Given the description of an element on the screen output the (x, y) to click on. 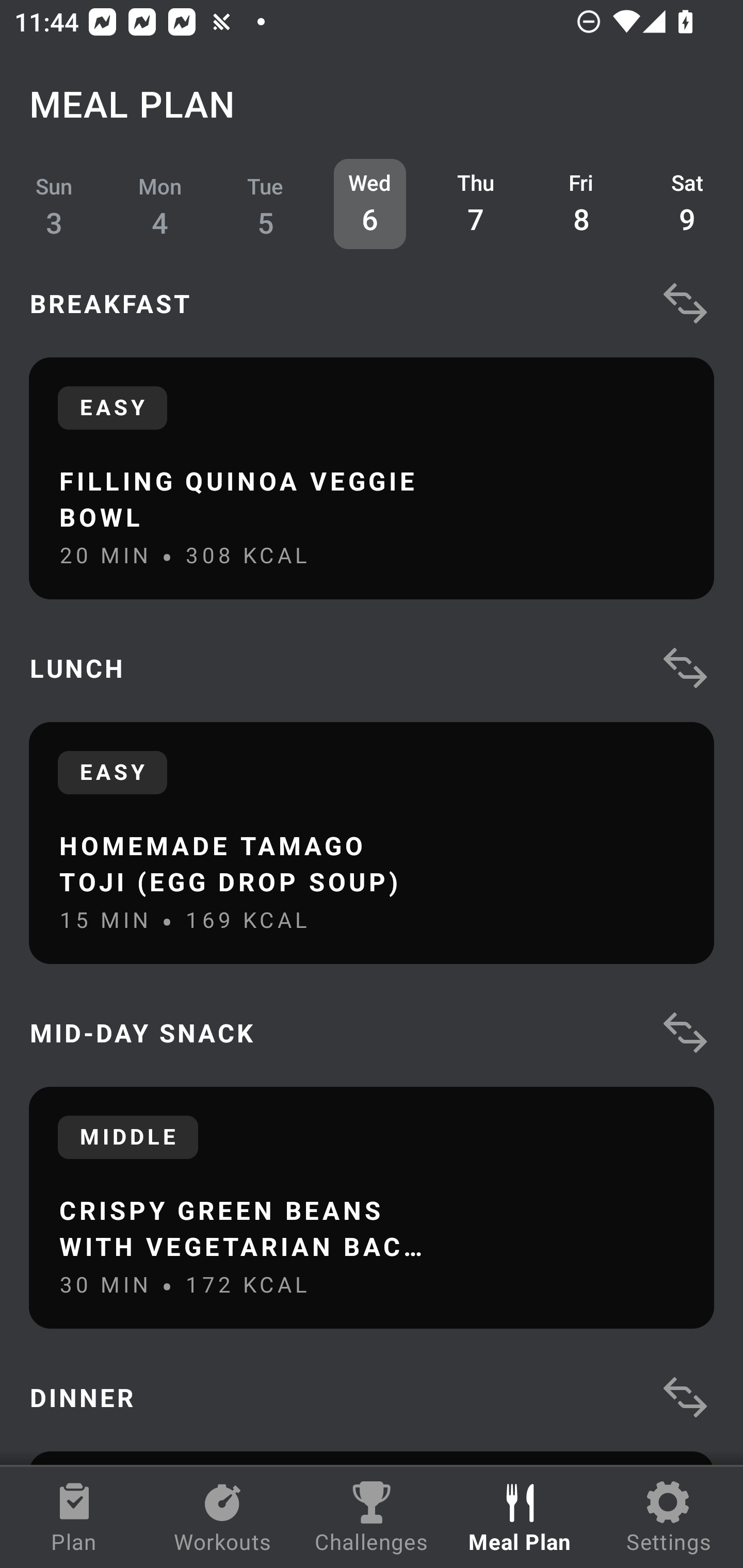
Wed 6 (369, 203)
Thu 7 (475, 203)
Fri 8 (581, 203)
Sat 9 (687, 203)
EASY FILLING QUINOA VEGGIE BOWL 20 MIN • 308 KCAL (371, 477)
 Plan  (74, 1517)
 Workouts  (222, 1517)
 Challenges  (371, 1517)
 Settings  (668, 1517)
